Given the description of an element on the screen output the (x, y) to click on. 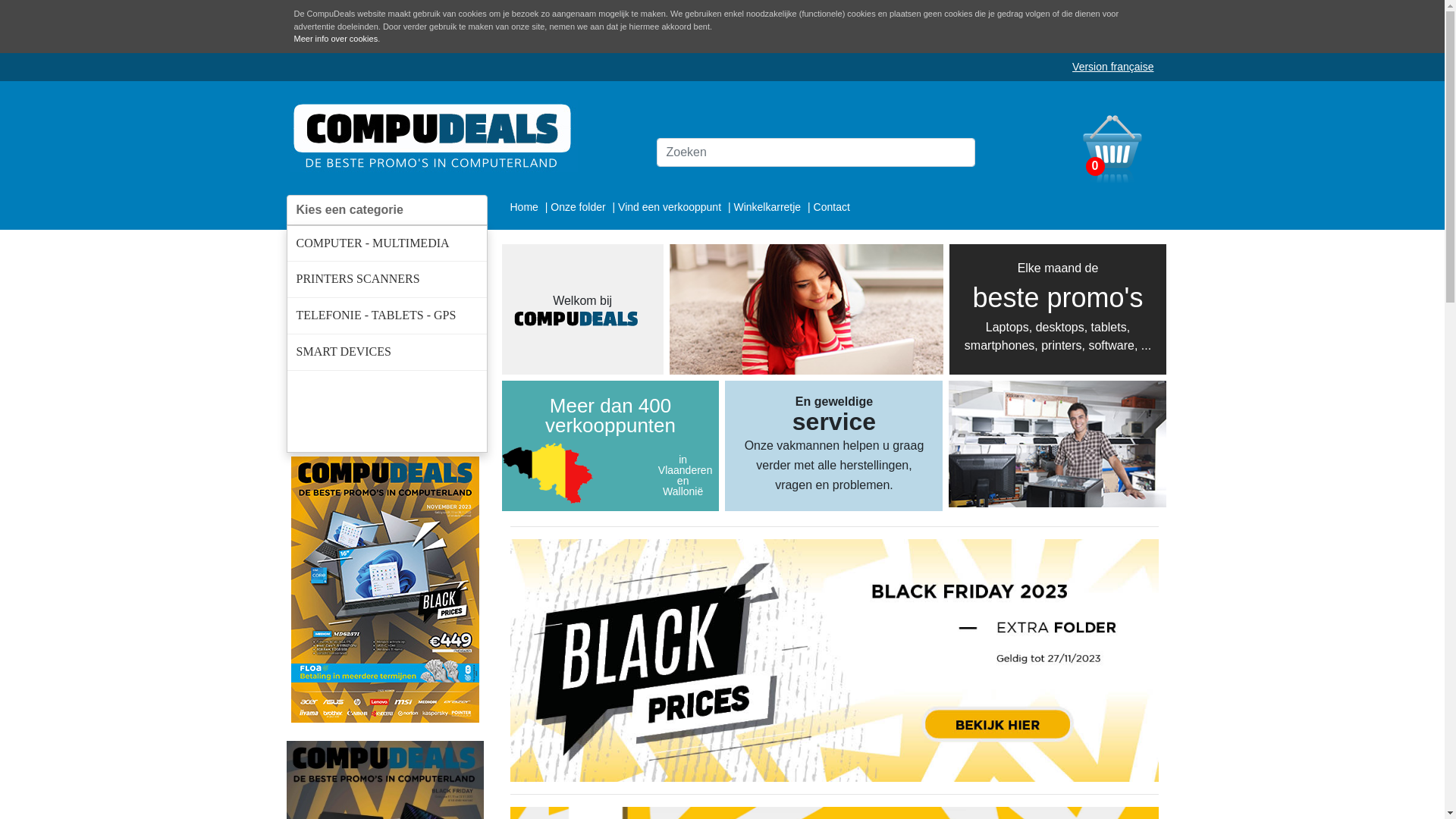
Onze folder Element type: text (579, 206)
Meer info over cookies Element type: text (336, 38)
Vind een verkooppunt Element type: text (671, 206)
Kies een categorie Element type: text (386, 209)
Contact Element type: text (831, 206)
Home Element type: text (524, 206)
Winkelkarretje Element type: text (768, 206)
